Given the description of an element on the screen output the (x, y) to click on. 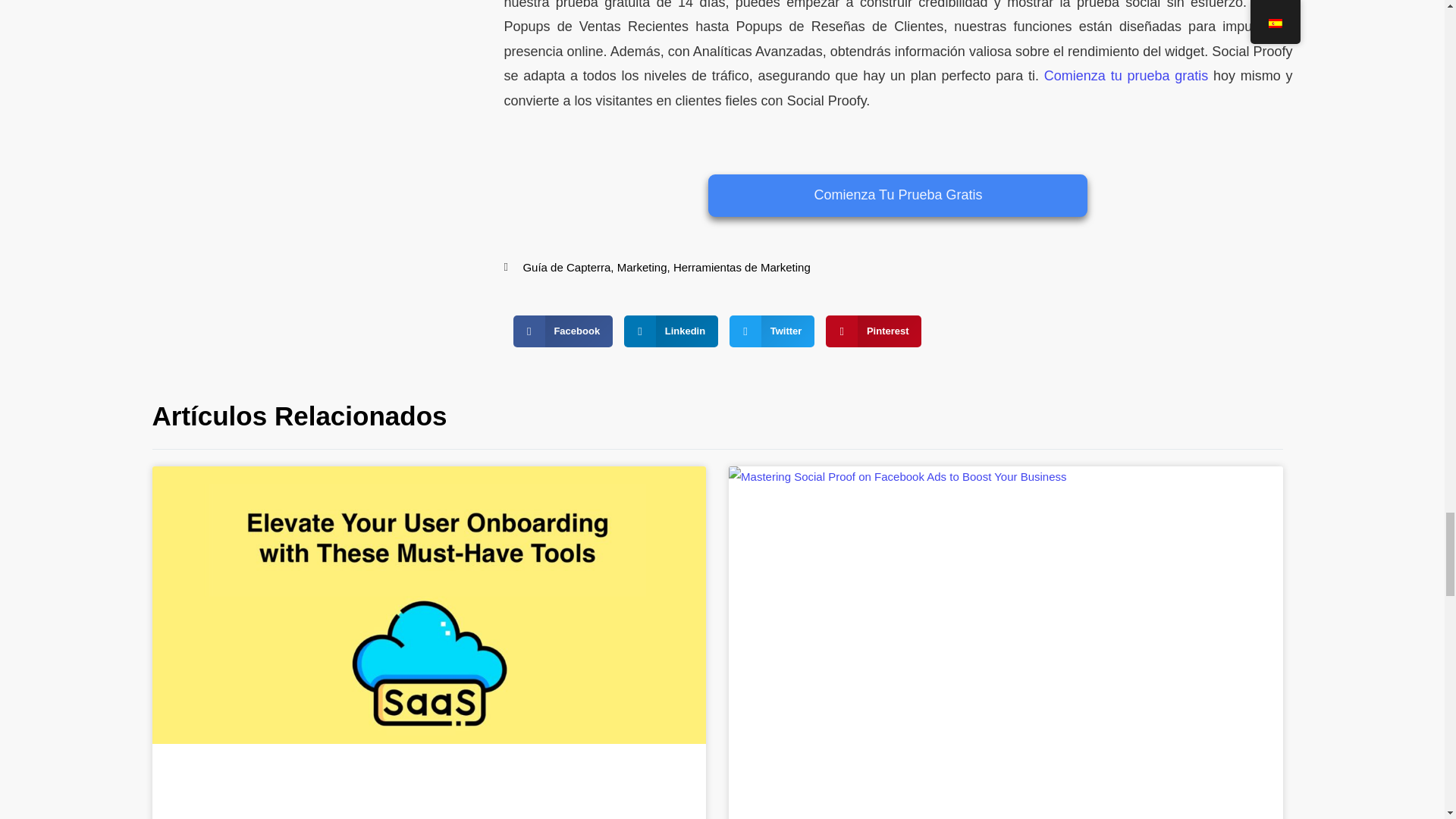
Herramientas de Marketing (741, 267)
Comienza tu prueba gratis (1125, 75)
Comienza Tu Prueba Gratis (897, 195)
Marketing (641, 267)
